Given the description of an element on the screen output the (x, y) to click on. 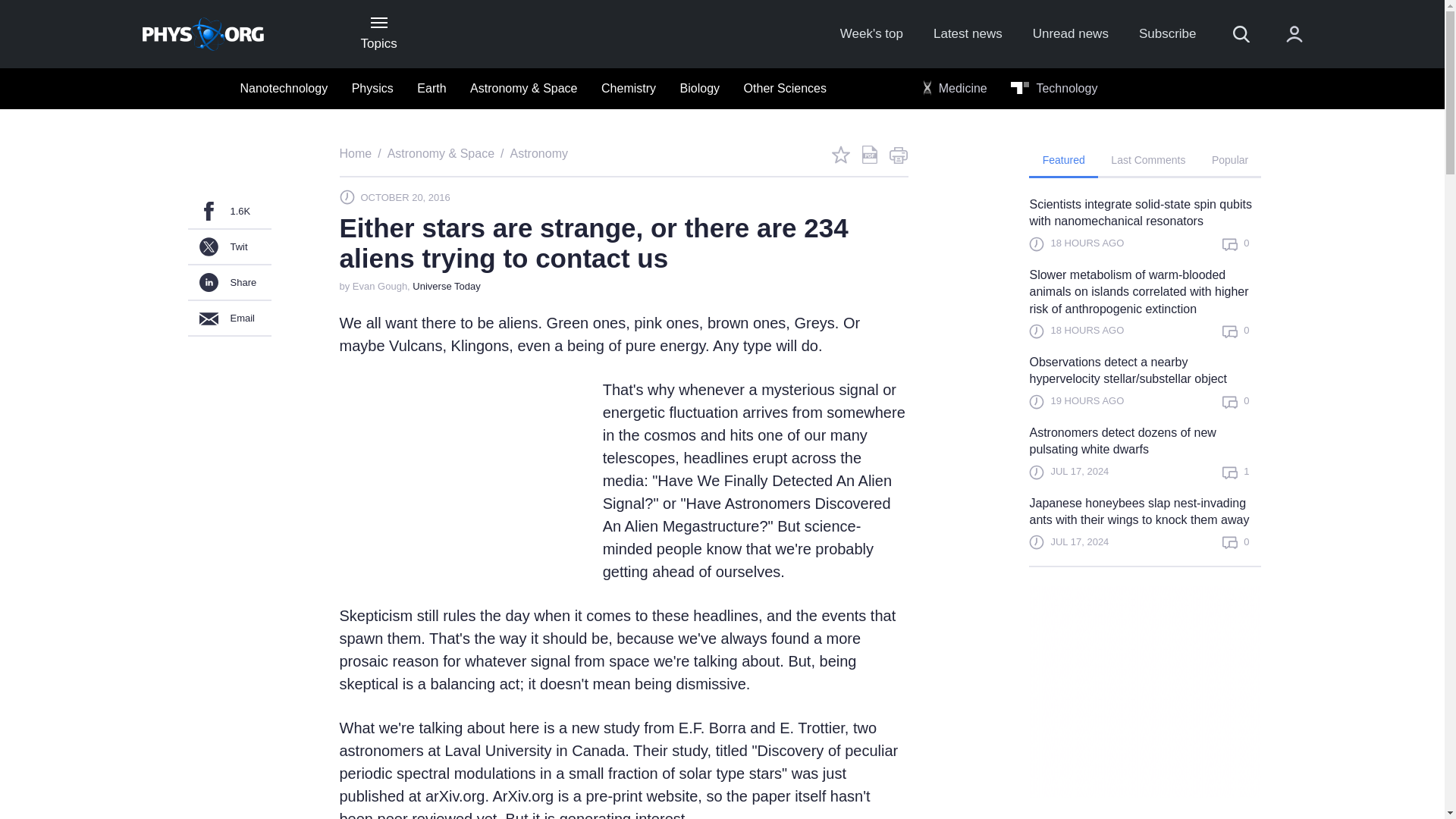
Unread news (1070, 34)
Email (228, 318)
Week's top (871, 34)
Save as pdf file (869, 154)
Chemistry (628, 88)
Universe Today (446, 285)
Latest news (968, 34)
Topics (378, 33)
Technology (1054, 88)
Print (898, 154)
Astronomy (538, 153)
Physics (372, 88)
Twit (228, 247)
Earth (430, 88)
Biology (699, 88)
